Given the description of an element on the screen output the (x, y) to click on. 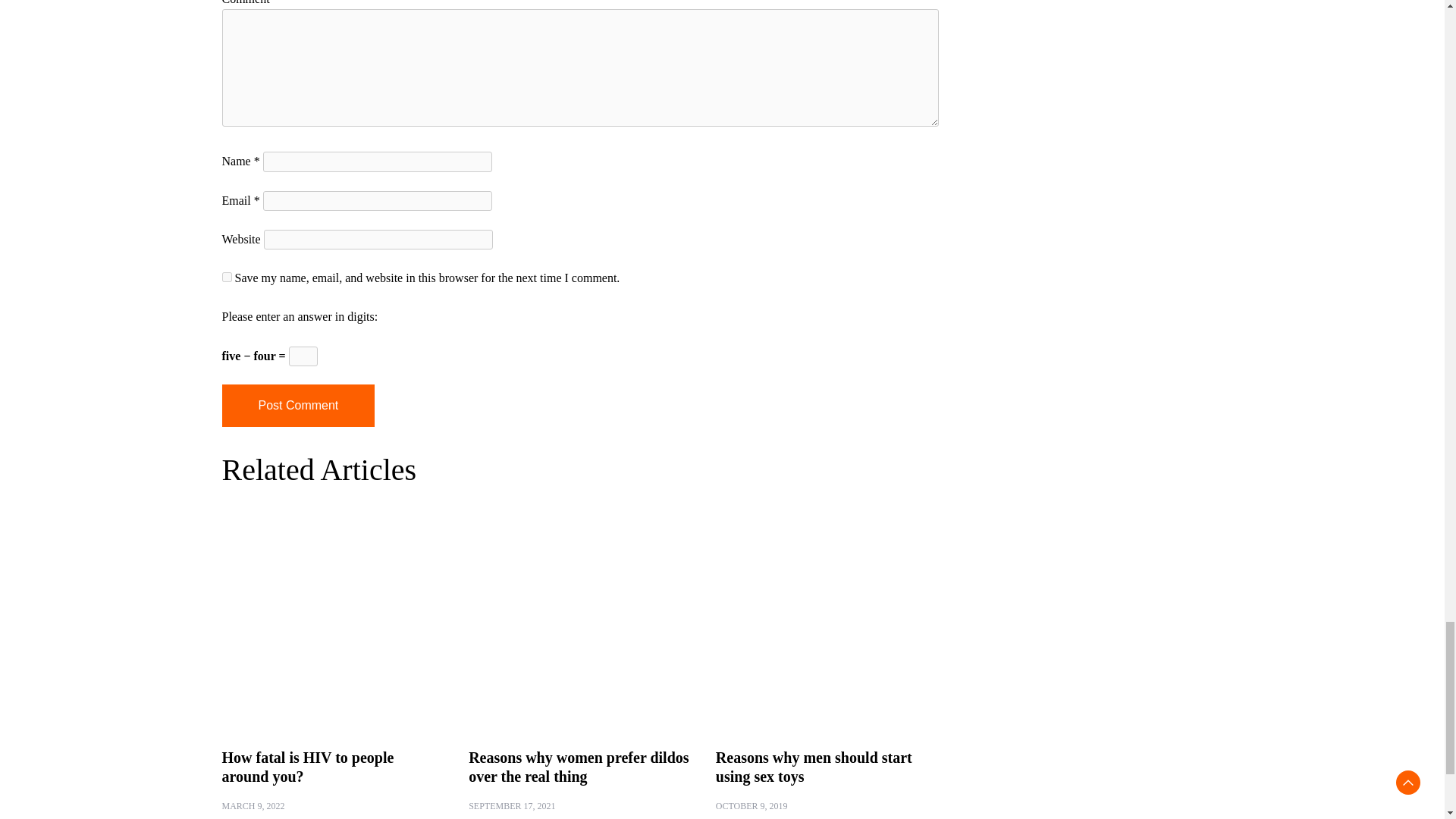
Post Comment (297, 405)
Reasons why women prefer dildos over the real thing (578, 766)
Post Comment (297, 405)
SEPTEMBER 17, 2021 (511, 806)
Reasons why men should start using sex toys (814, 766)
yes (226, 276)
OCTOBER 9, 2019 (751, 806)
MARCH 9, 2022 (252, 806)
How fatal is HIV to people around you? (307, 766)
